Given the description of an element on the screen output the (x, y) to click on. 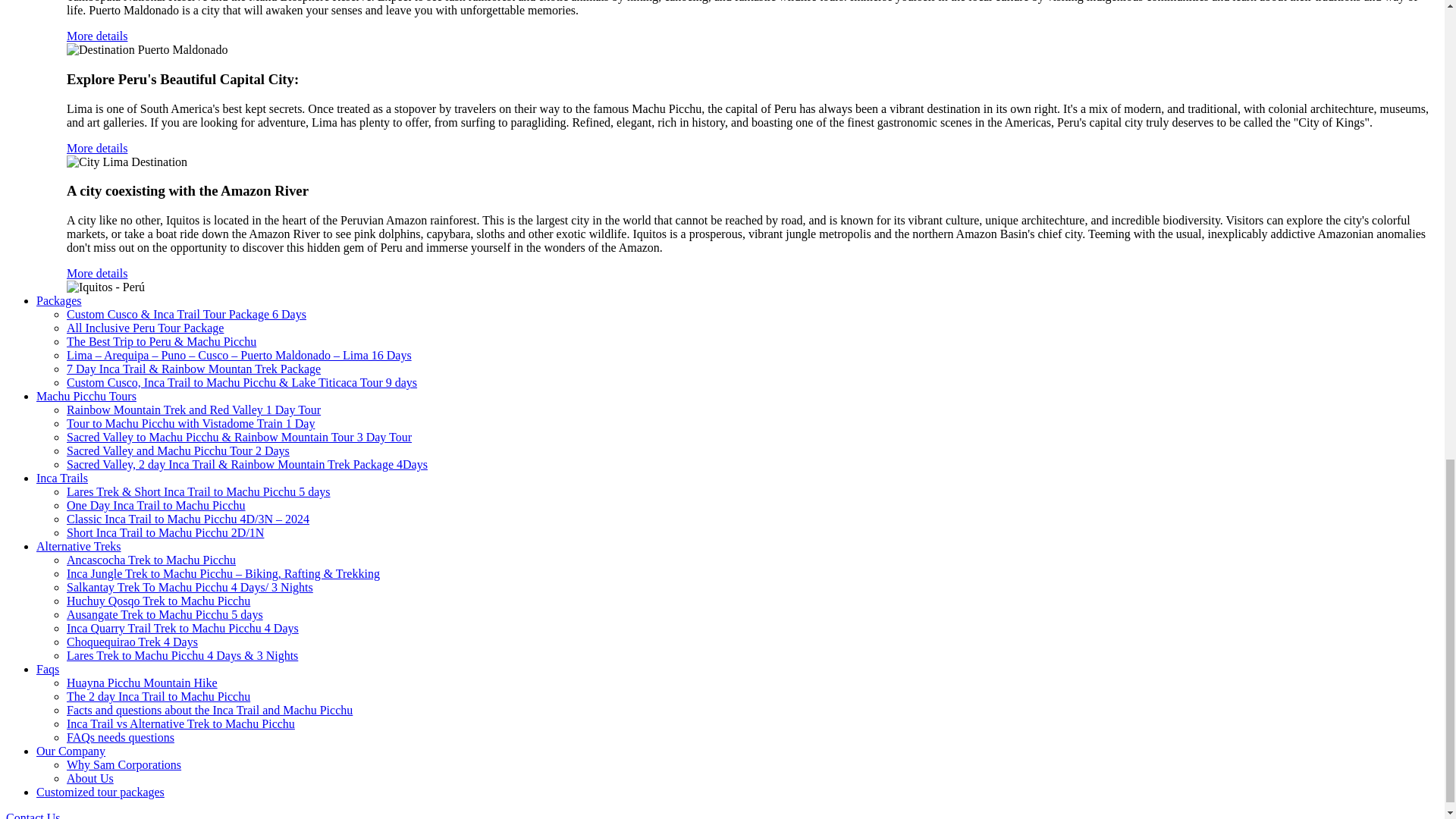
Packages (58, 300)
More details (97, 273)
More details (97, 147)
More details (97, 35)
